Given the description of an element on the screen output the (x, y) to click on. 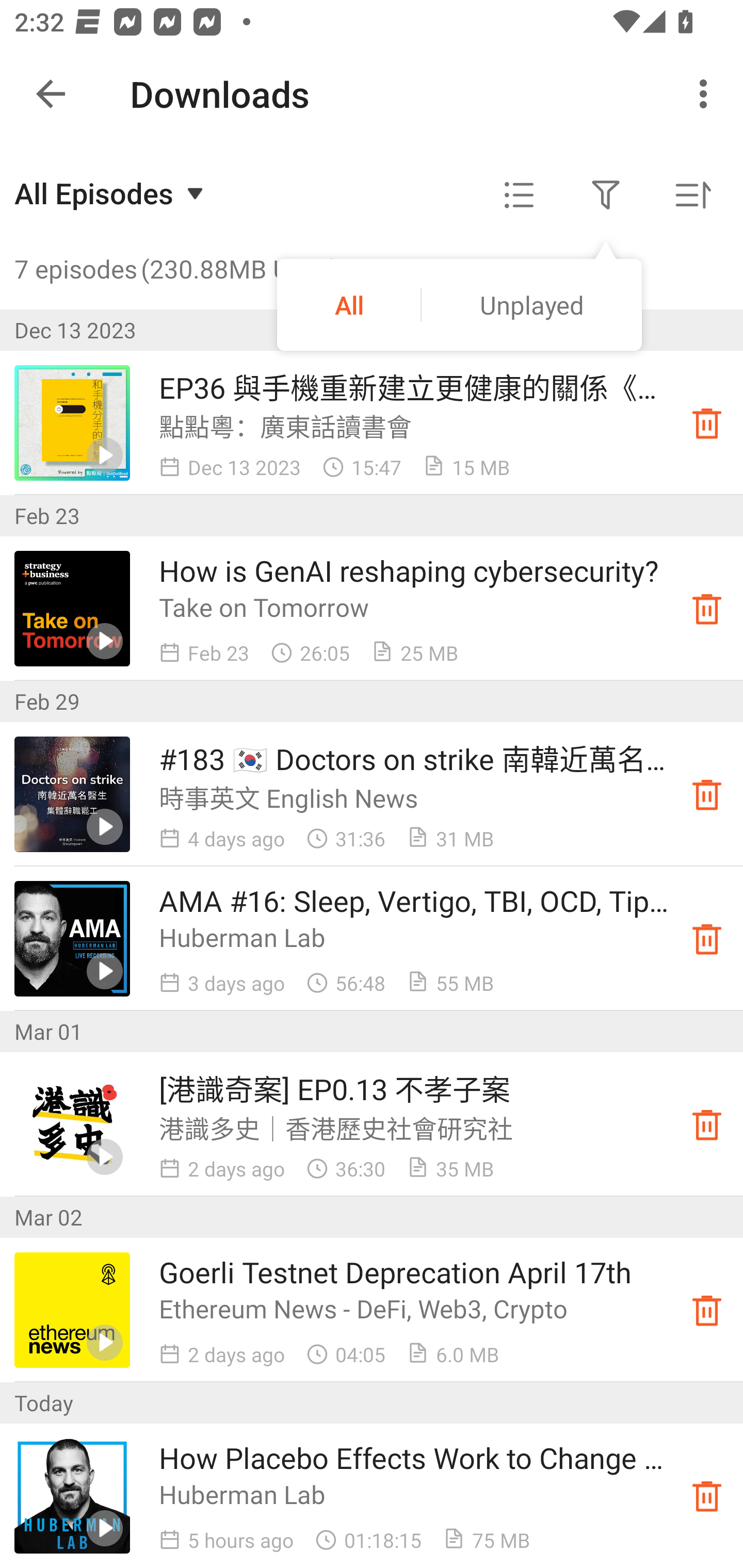
All (349, 304)
Unplayed (531, 304)
